Given the description of an element on the screen output the (x, y) to click on. 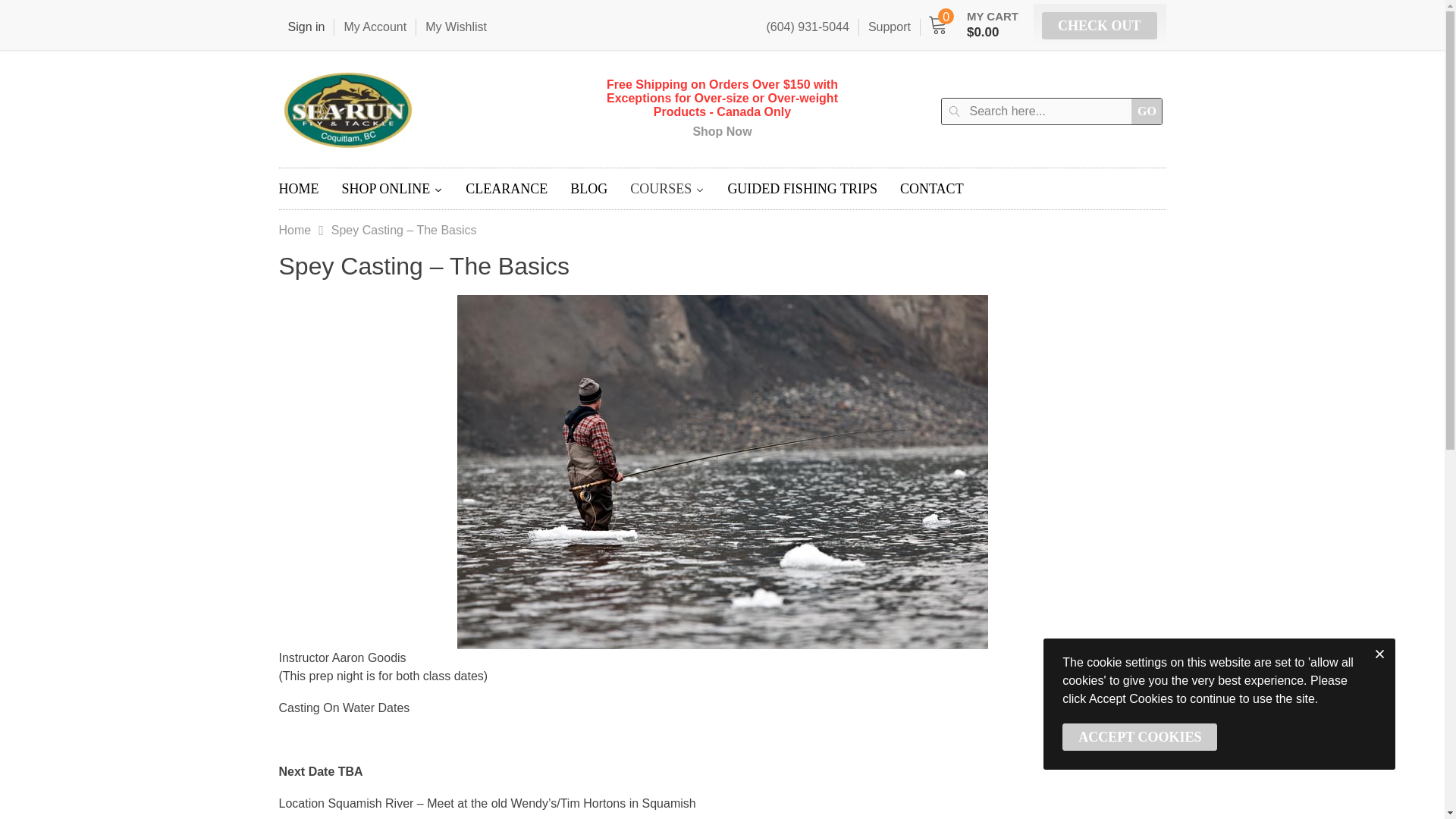
Sign in (306, 26)
Support (889, 27)
Guided Fishing Trips (802, 188)
Shop Now (722, 131)
My Wishlist (455, 27)
Contact (931, 188)
Courses (667, 188)
GO (1146, 111)
Shop Online (392, 188)
Clearance (506, 188)
Blog (588, 188)
CHECK OUT (1099, 25)
My Account (373, 27)
Home (298, 188)
